Given the description of an element on the screen output the (x, y) to click on. 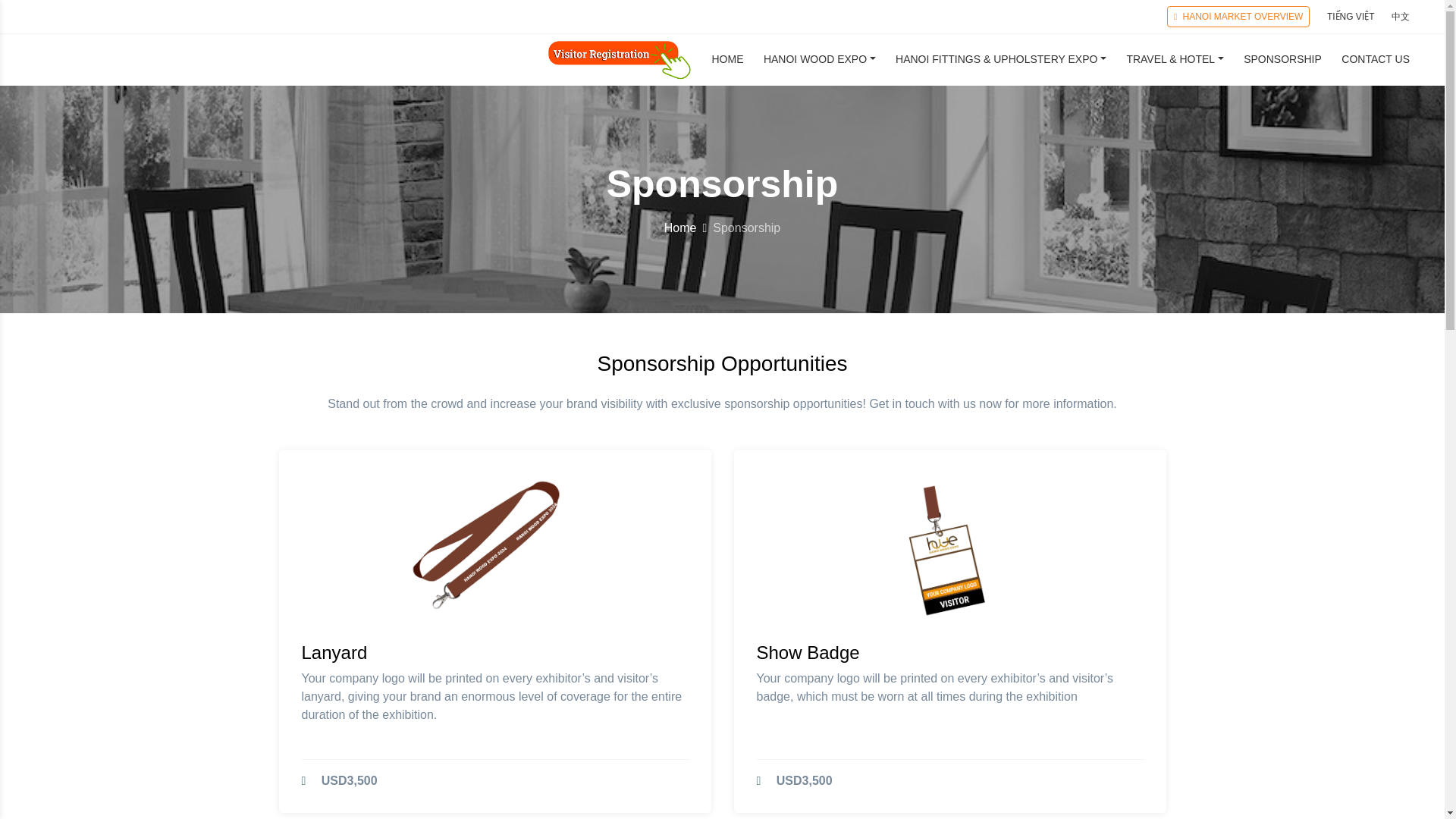
SPONSORSHIP (1282, 67)
HANOI MARKET OVERVIEW (1238, 16)
HOME (726, 67)
CONTACT US (1374, 67)
HANOI WOOD EXPO (819, 67)
